Given the description of an element on the screen output the (x, y) to click on. 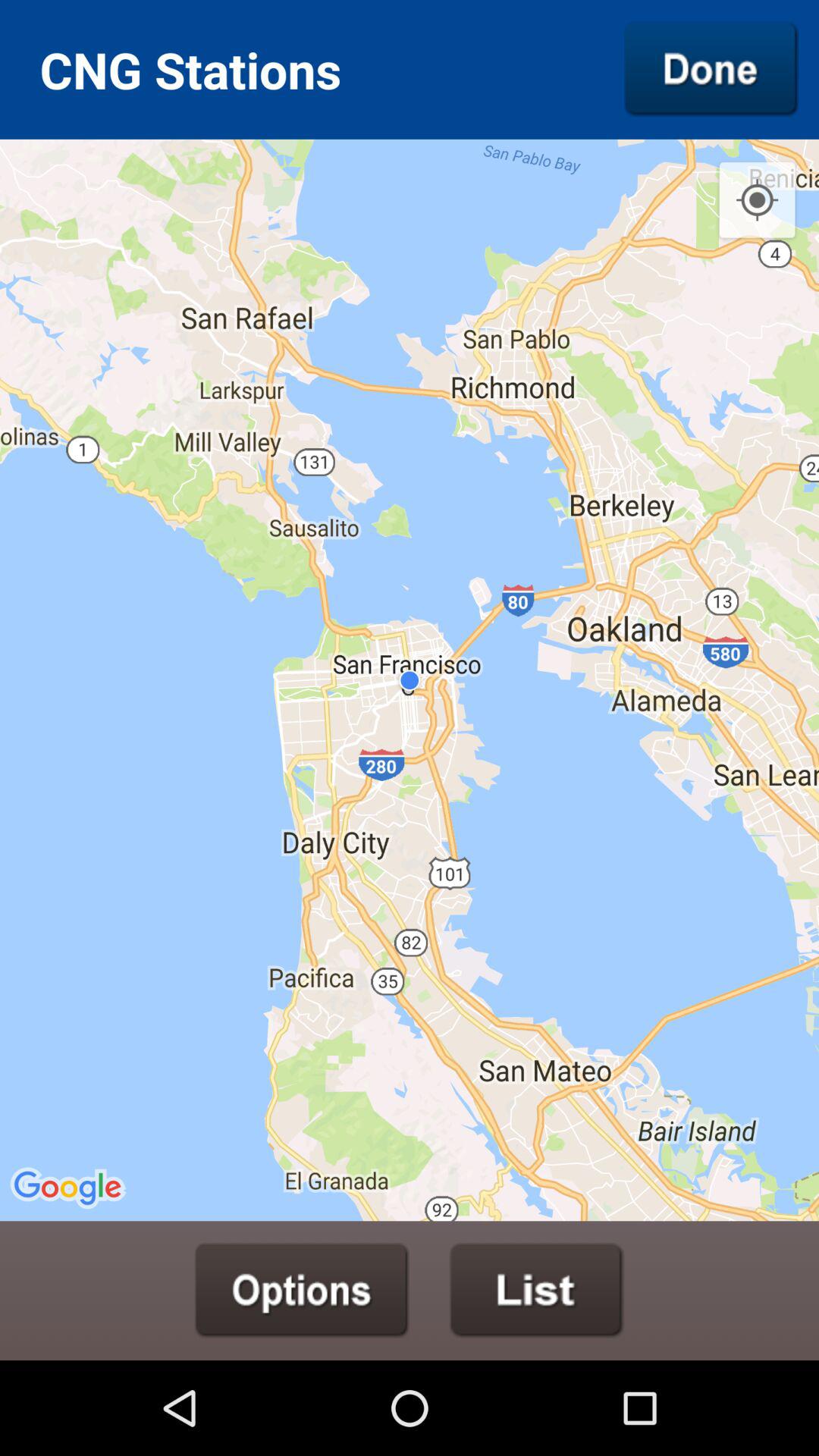
click to done option (711, 69)
